Given the description of an element on the screen output the (x, y) to click on. 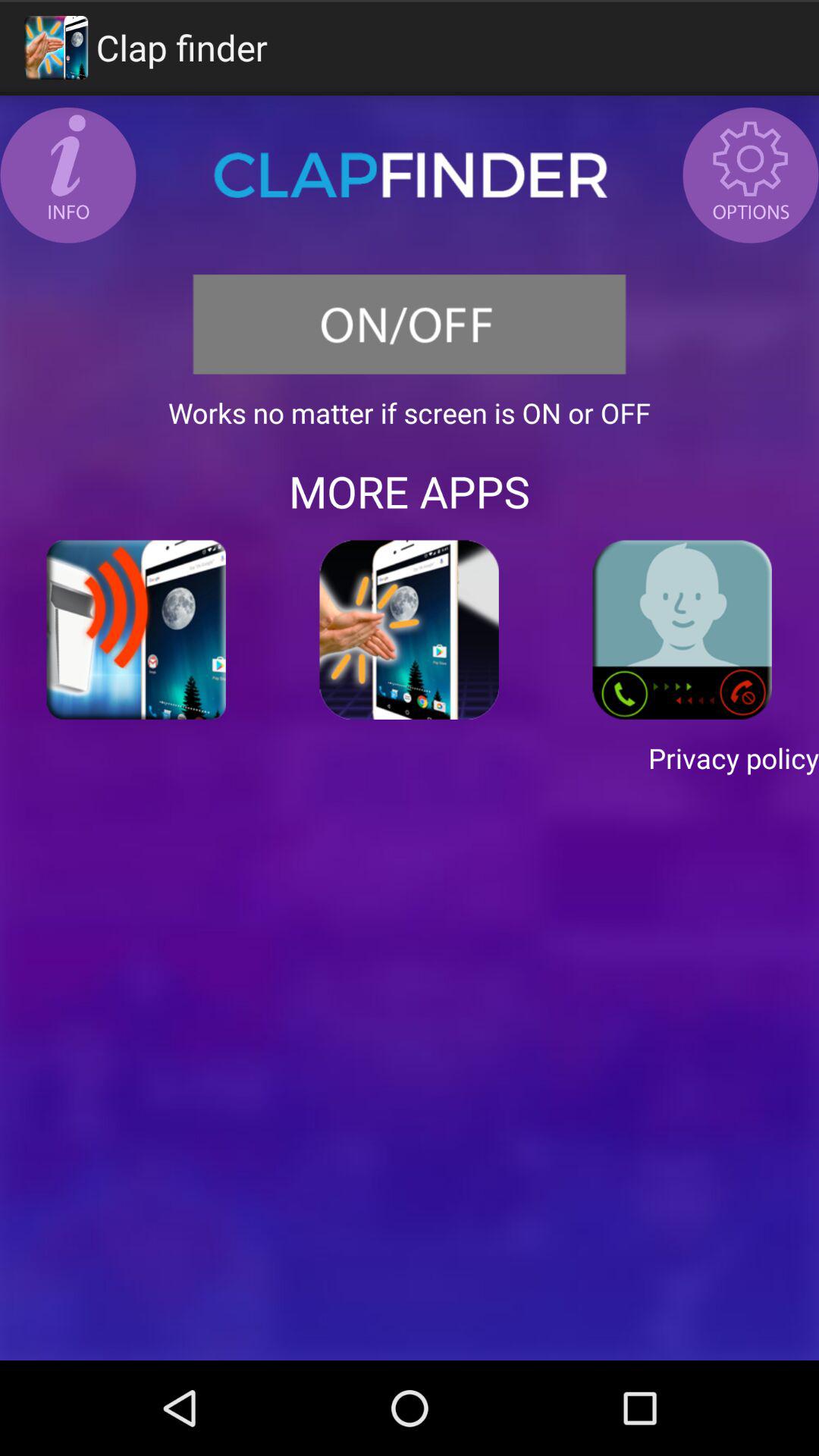
see more info (68, 174)
